Given the description of an element on the screen output the (x, y) to click on. 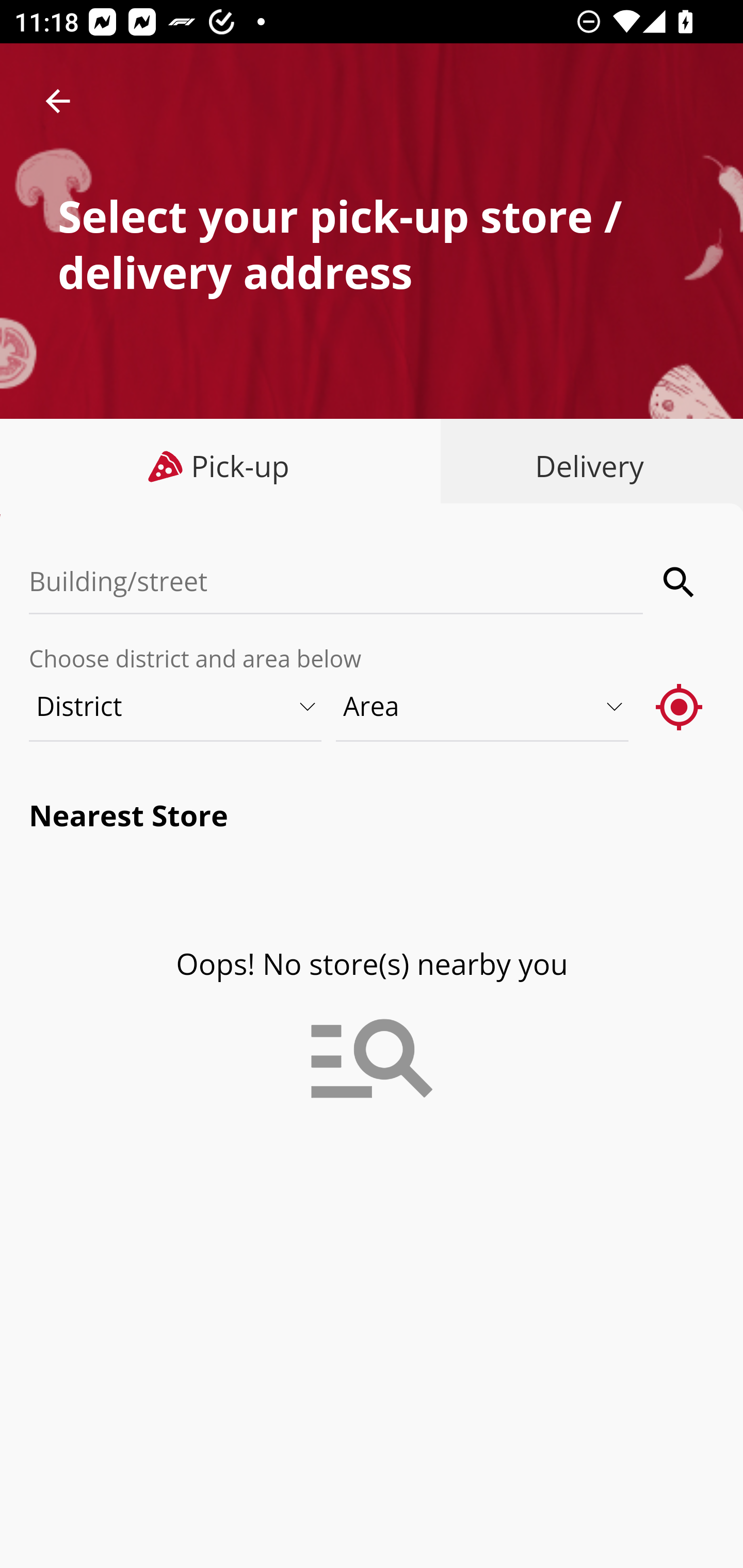
arrow_back (58, 100)
prev next Pick-up Delivery (371, 467)
Delivery (585, 466)
search (679, 582)
gps_fixed (679, 706)
District (175, 706)
Area (482, 706)
